Given the description of an element on the screen output the (x, y) to click on. 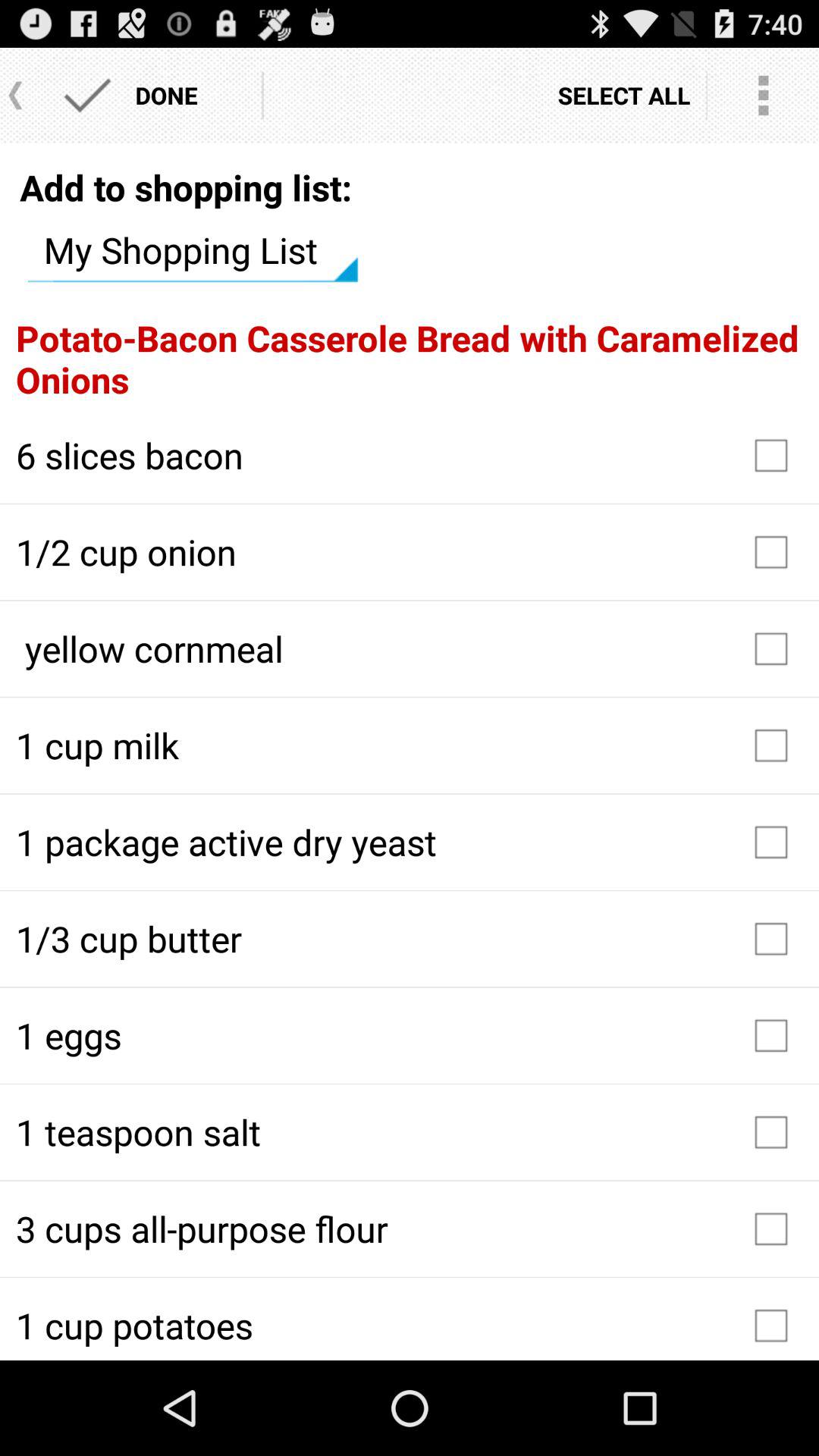
press the potato bacon casserole item (409, 358)
